Given the description of an element on the screen output the (x, y) to click on. 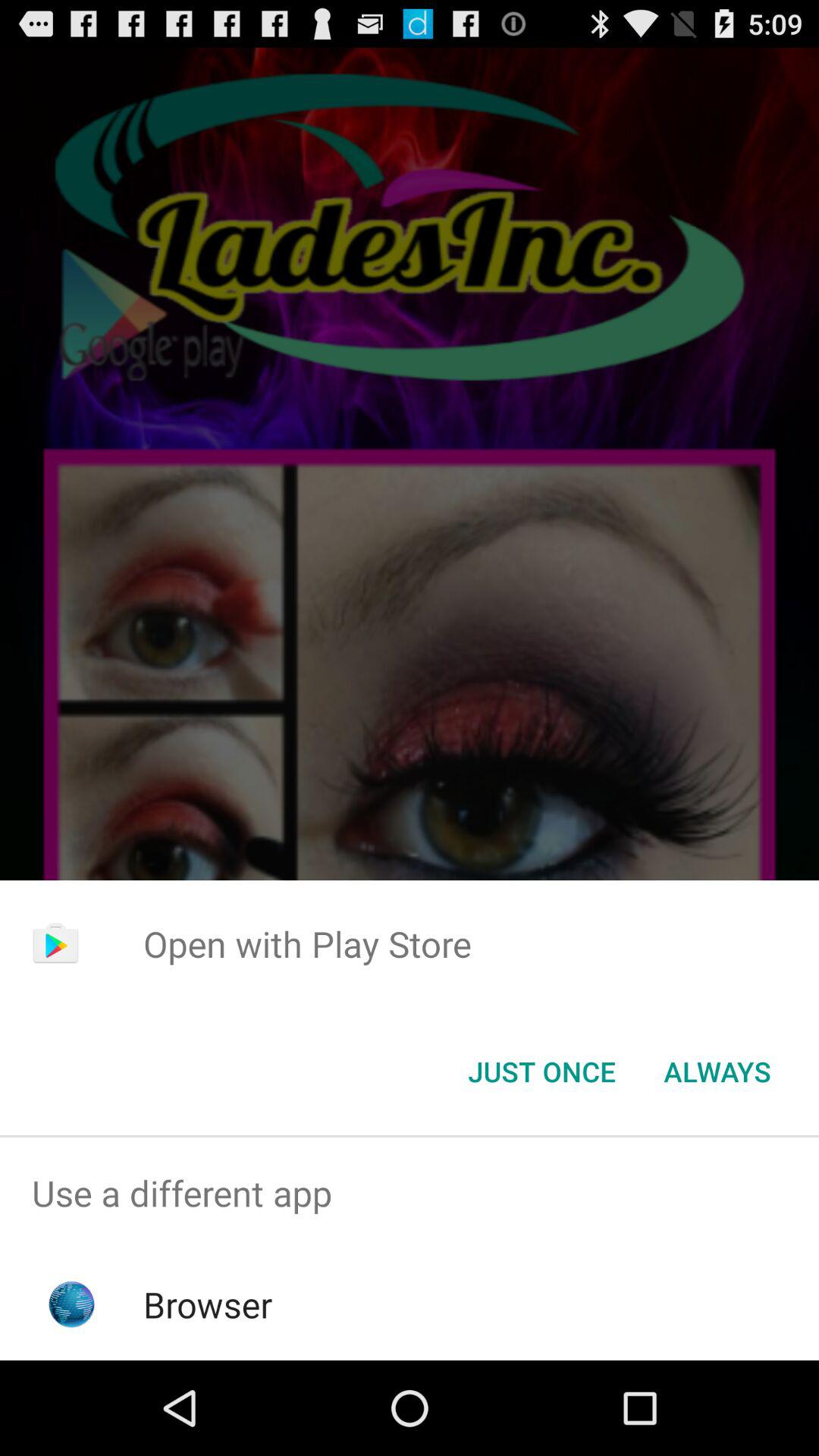
turn off the item below open with play app (717, 1071)
